Given the description of an element on the screen output the (x, y) to click on. 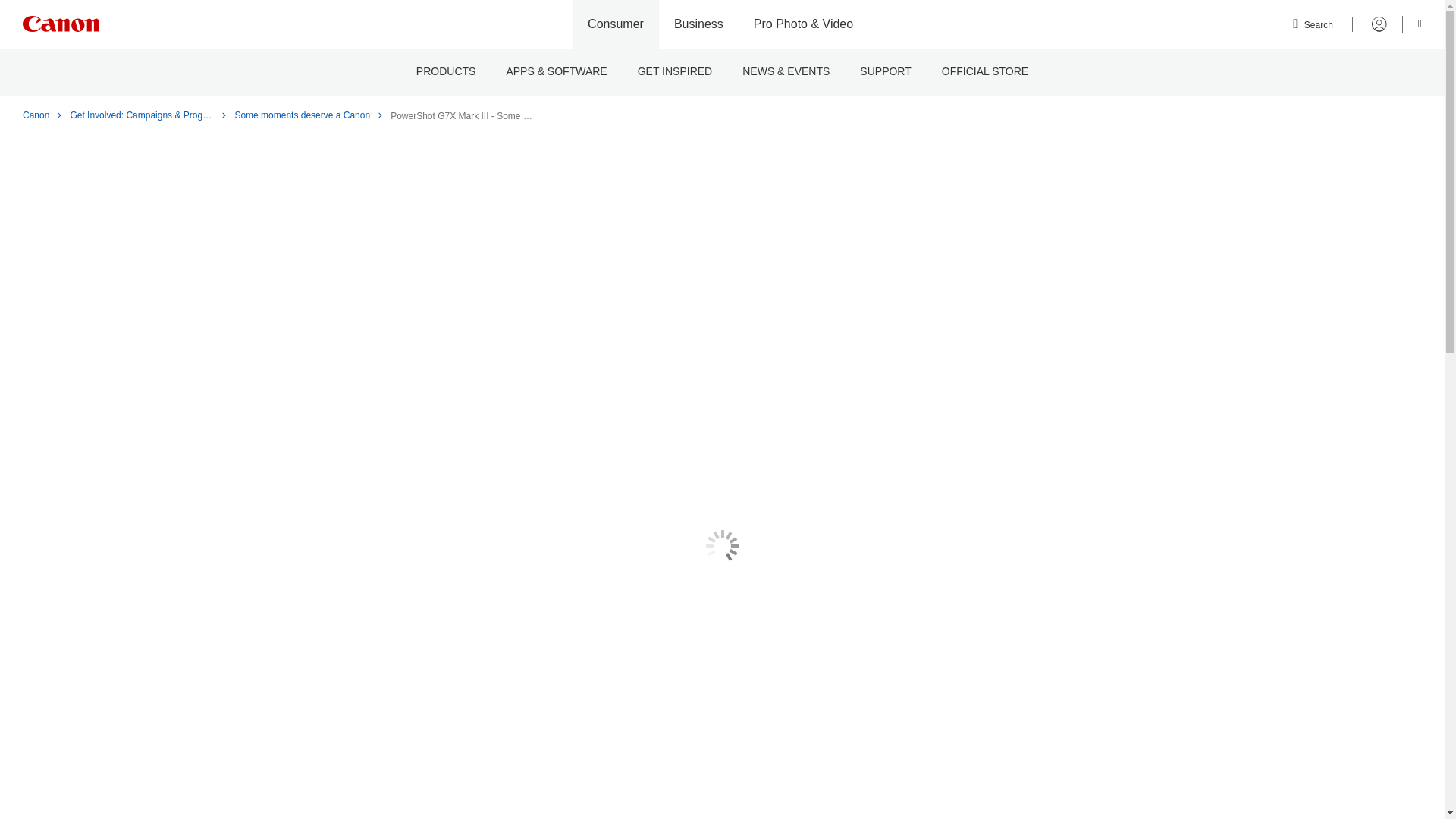
Canon Logo, back to home page (61, 23)
Canon account (1369, 23)
PRODUCTS (446, 72)
Business (698, 24)
Consumer (615, 24)
